Given the description of an element on the screen output the (x, y) to click on. 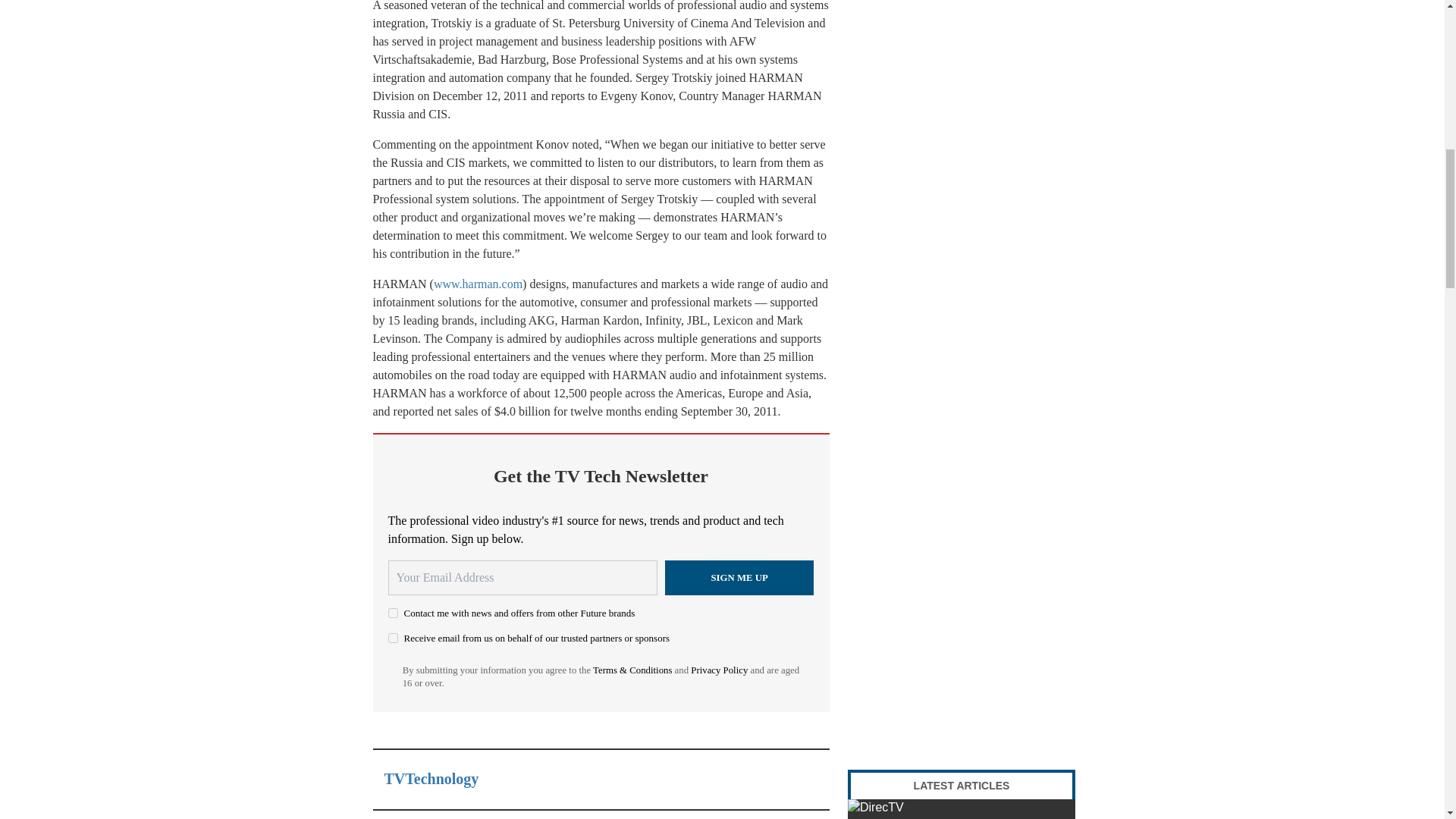
Sign me up (739, 577)
Sign me up (739, 577)
www.harman.com (477, 283)
on (392, 613)
Privacy Policy (719, 670)
TVTechnology (431, 778)
on (392, 637)
Disney, DirecTV Blackout Looms (961, 809)
